Given the description of an element on the screen output the (x, y) to click on. 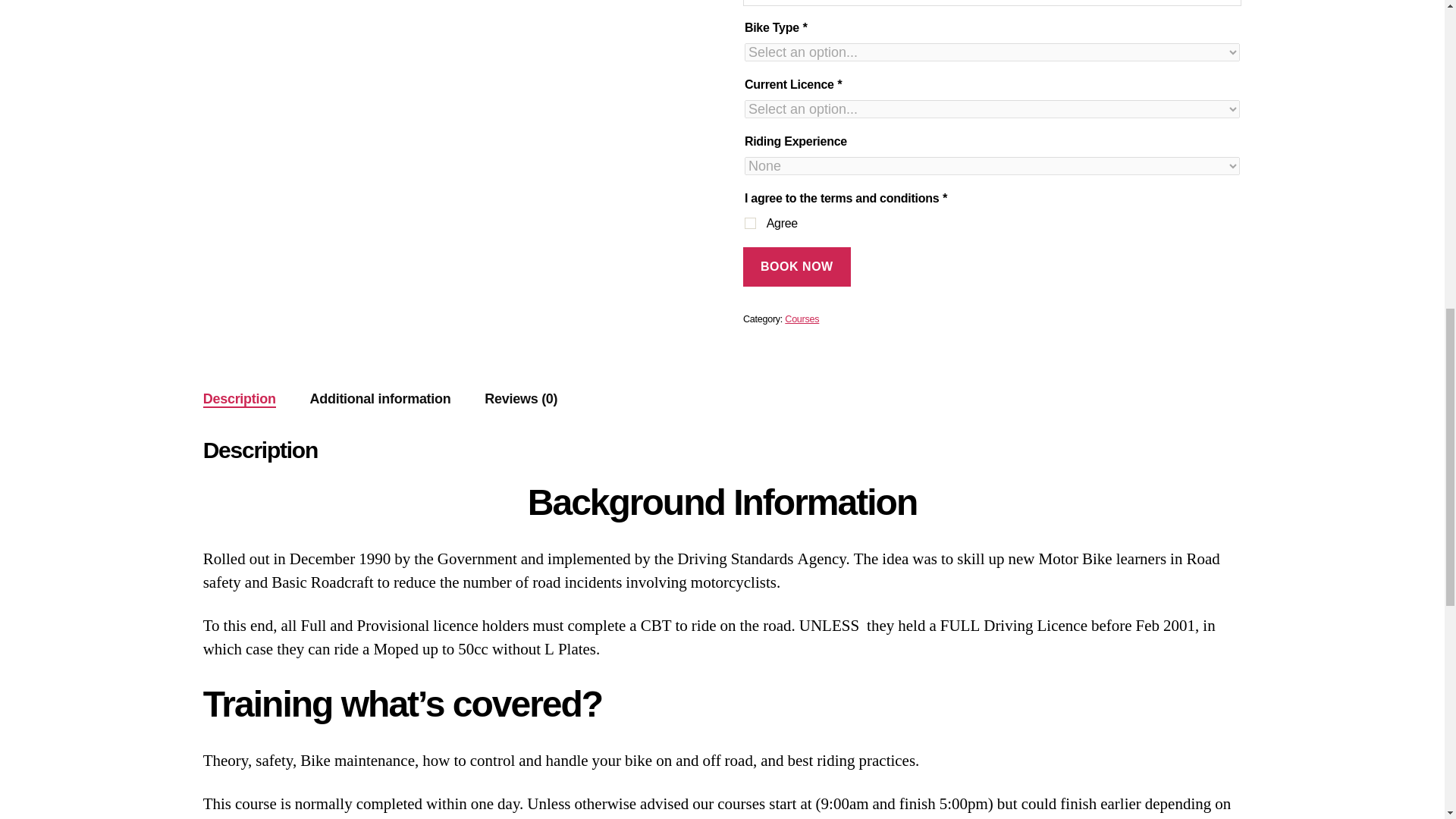
agree (749, 223)
BOOK NOW (796, 266)
Additional information (378, 398)
Courses (801, 318)
Description (239, 398)
